Given the description of an element on the screen output the (x, y) to click on. 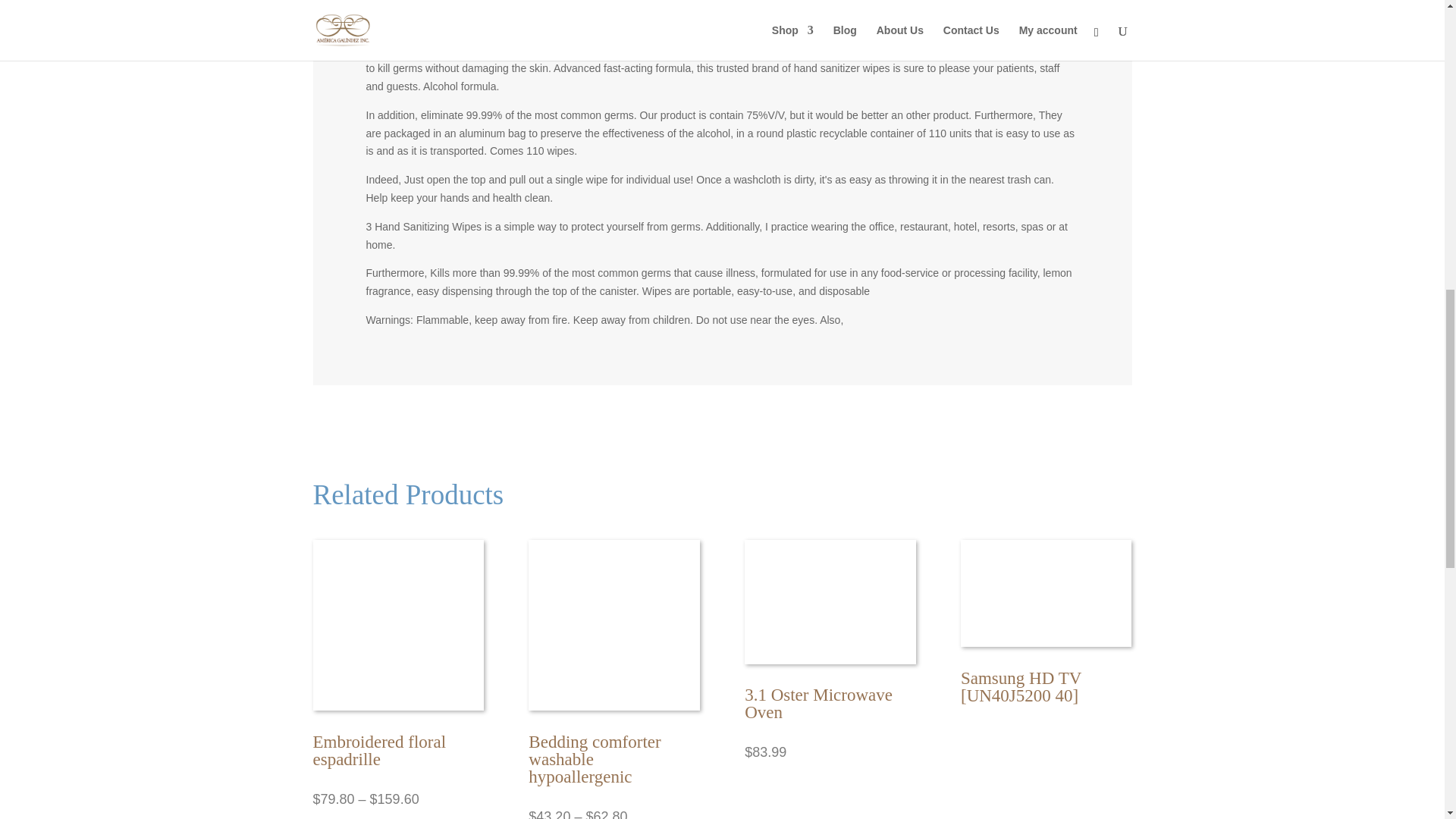
sanitizing (994, 50)
Embroidered floral espadrille (379, 750)
protected (771, 21)
Bedding comforter washable hypoallergenic (594, 759)
3.1 Oster Microwave Oven (818, 703)
